Given the description of an element on the screen output the (x, y) to click on. 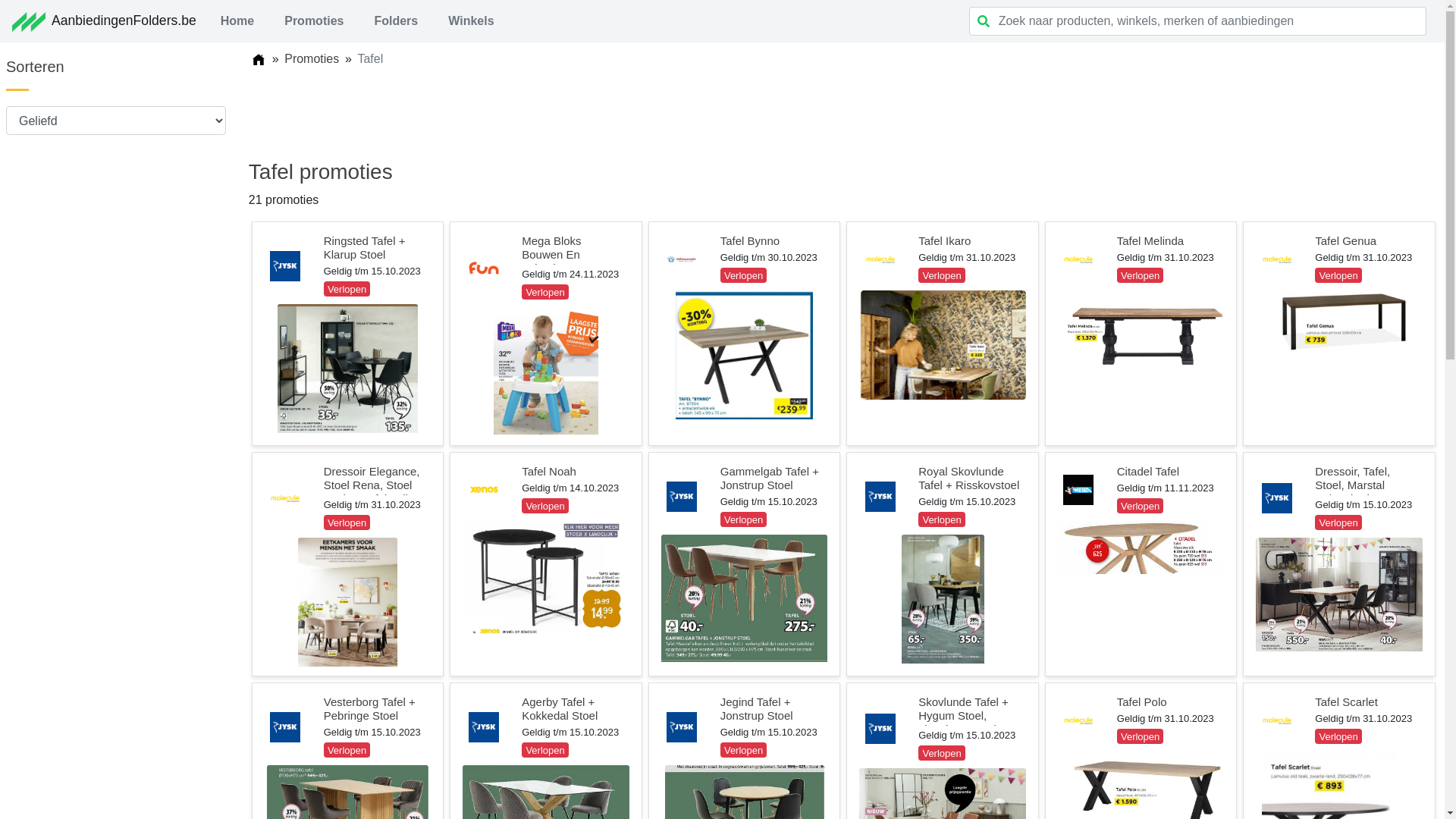
Tafel Genua Element type: text (1345, 240)
Home Element type: text (237, 21)
Vesterborg Tafel + Pebringe Stoel Element type: text (369, 708)
Tafel Melinda aanbieding bij Molecule Element type: hover (1140, 329)
Molecule Element type: hover (1276, 259)
Folders Element type: text (395, 21)
Jysk Element type: hover (880, 728)
Jysk Element type: hover (284, 266)
Ringsted Tafel + Klarup Stoel aanbieding bij Jysk Element type: hover (347, 368)
Dressoir, Tafel, Stoel, Marstal Spiegel, Virum Vitrinekast Element type: text (1352, 491)
AanbiedingenFolders.be Element type: text (104, 20)
Gammelgab Tafel + Jonstrup Stoel aanbieding bij Jysk Element type: hover (744, 598)
Tafel Polo Element type: text (1142, 701)
Skovlunde Tafel + Hygum Stoel, Lingvig Dressoir Element type: text (963, 715)
Ringsted Tafel + Klarup Stoel Element type: text (364, 247)
Promoties Element type: text (311, 58)
Agerby Tafel + Kokkedal Stoel Element type: text (559, 708)
Molecule Element type: hover (1078, 720)
Tafel Noah aanbieding bij Xenos Element type: hover (545, 579)
Jysk Element type: hover (1276, 498)
Promoties Element type: text (313, 21)
Tafel Bynno Element type: text (749, 240)
Molecule Element type: hover (1078, 259)
Jegind Tafel + Jonstrup Stoel Element type: text (756, 708)
Citadel Tafel Element type: text (1148, 470)
Xenos Element type: hover (483, 489)
Royal Skovlunde Tafel + Risskovstoel Element type: text (968, 477)
Jysk Element type: hover (681, 727)
Weba Element type: hover (1078, 489)
Citadel Tafel aanbieding bij Weba Element type: hover (1140, 547)
Tafel Melinda Element type: text (1150, 240)
Molecule Element type: hover (1276, 720)
Molecule Element type: hover (880, 259)
Zelfbouwmarkt Element type: hover (681, 259)
Jysk Element type: hover (483, 727)
Tafel Ikaro aanbieding bij Molecule Element type: hover (942, 345)
Dressoir Elegance, Stoel Rena, Stoel Marley, Tafel Tulip Element type: text (371, 484)
Gammelgab Tafel + Jonstrup Stoel Element type: text (769, 477)
Tafel Bynno aanbieding bij Zelfbouwmarkt Element type: hover (743, 354)
Jysk Element type: hover (681, 496)
Mega Bloks Bouwen En Tuimelen Activiteiten-tafel Element type: text (561, 261)
Tafel Ikaro Element type: text (944, 240)
Jysk Element type: hover (284, 727)
Molecule Element type: hover (284, 498)
Fun Element type: hover (483, 267)
Tafel Scarlet Element type: text (1345, 701)
Tafel Noah Element type: text (548, 470)
Tafel Genua aanbieding bij Molecule Element type: hover (1338, 321)
Jysk Element type: hover (880, 496)
Royal Skovlunde Tafel + Risskovstoel aanbieding bij Jysk Element type: hover (942, 598)
Winkels Element type: text (470, 21)
